Given the description of an element on the screen output the (x, y) to click on. 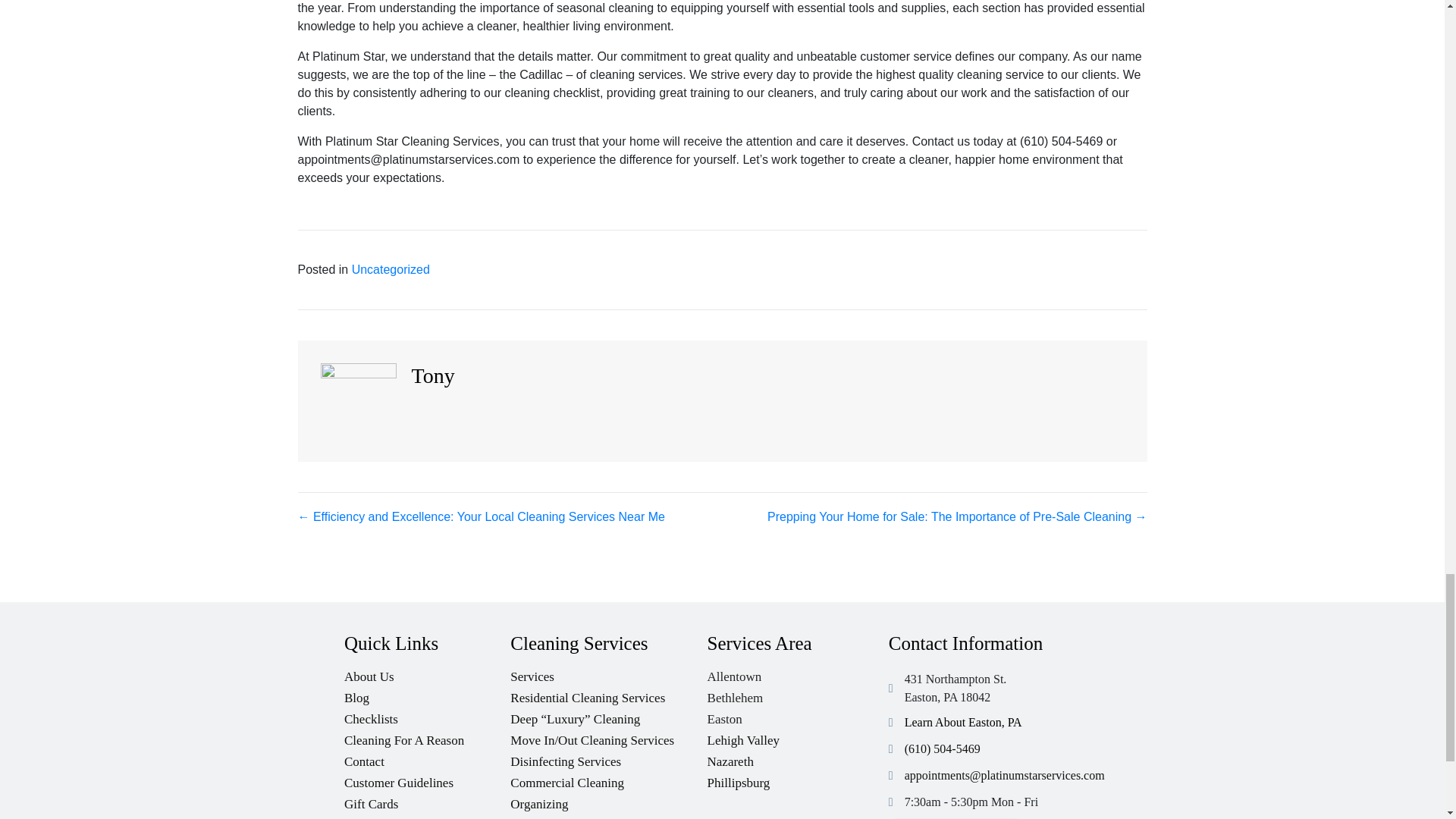
Blog (427, 693)
Checklists (427, 715)
Contact (427, 757)
Uncategorized (390, 269)
About Us (427, 672)
Customer Guidelines (427, 779)
Cleaning For A Reason (427, 736)
